Given the description of an element on the screen output the (x, y) to click on. 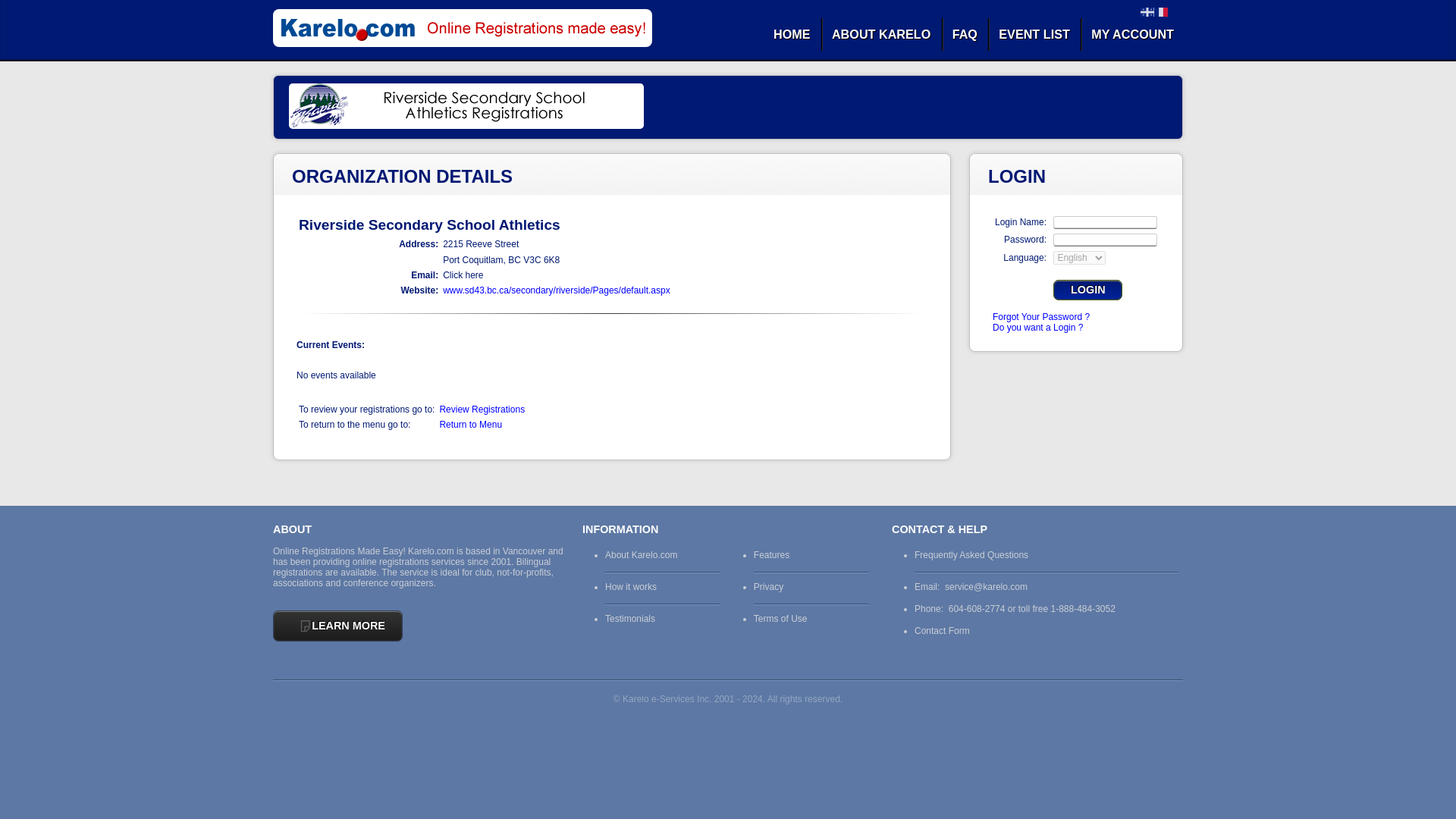
HOME (791, 34)
Frequently Asked Questions (970, 554)
FAQ (964, 34)
Review Registrations (481, 409)
Features (771, 554)
Forgot Your Password ? (1040, 317)
Login (1087, 290)
Return to Menu (470, 424)
Privacy (768, 586)
Login (1087, 290)
